Given the description of an element on the screen output the (x, y) to click on. 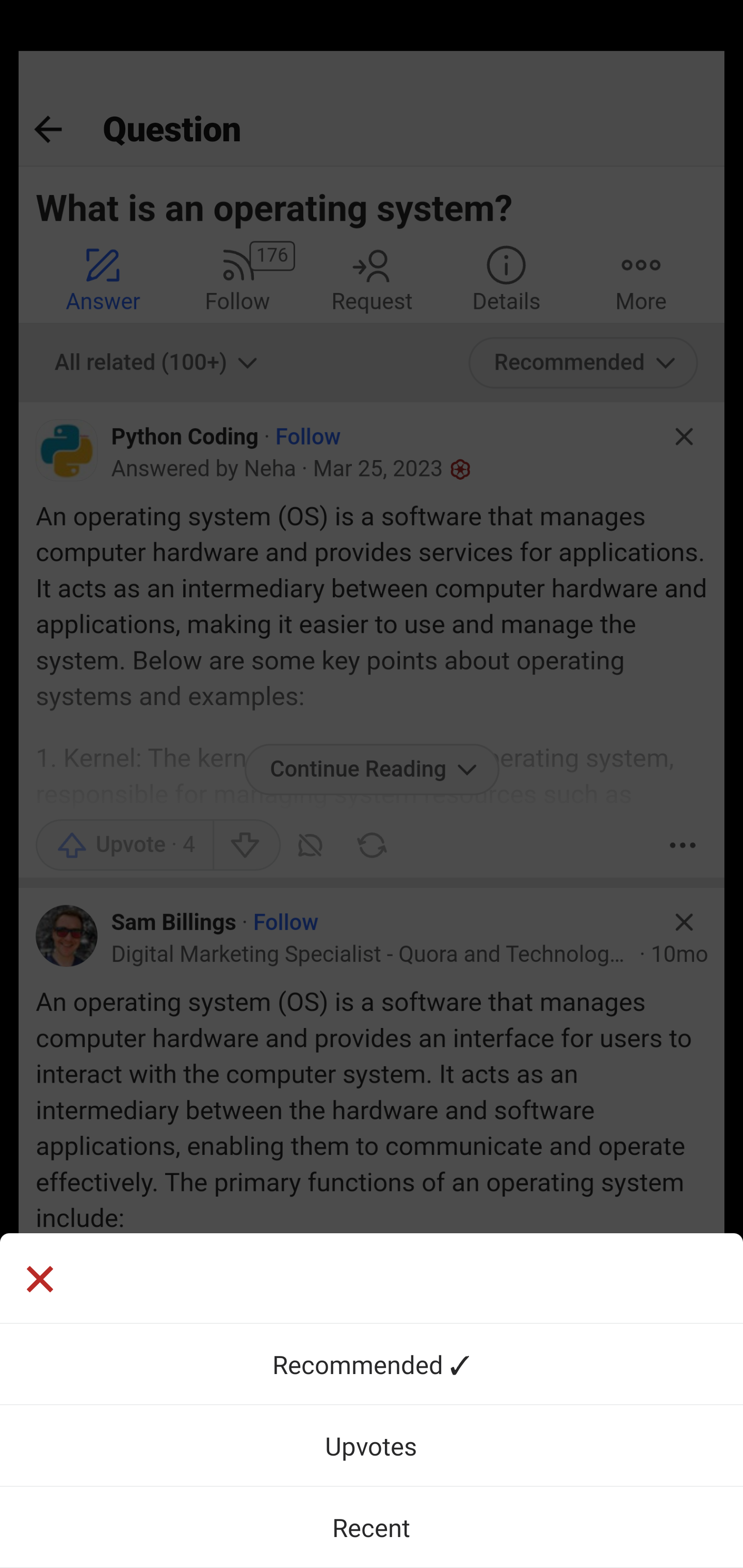
 (371, 1278)
Recommended ✓ (371, 1363)
Upvotes (371, 1445)
Recent (371, 1527)
